Given the description of an element on the screen output the (x, y) to click on. 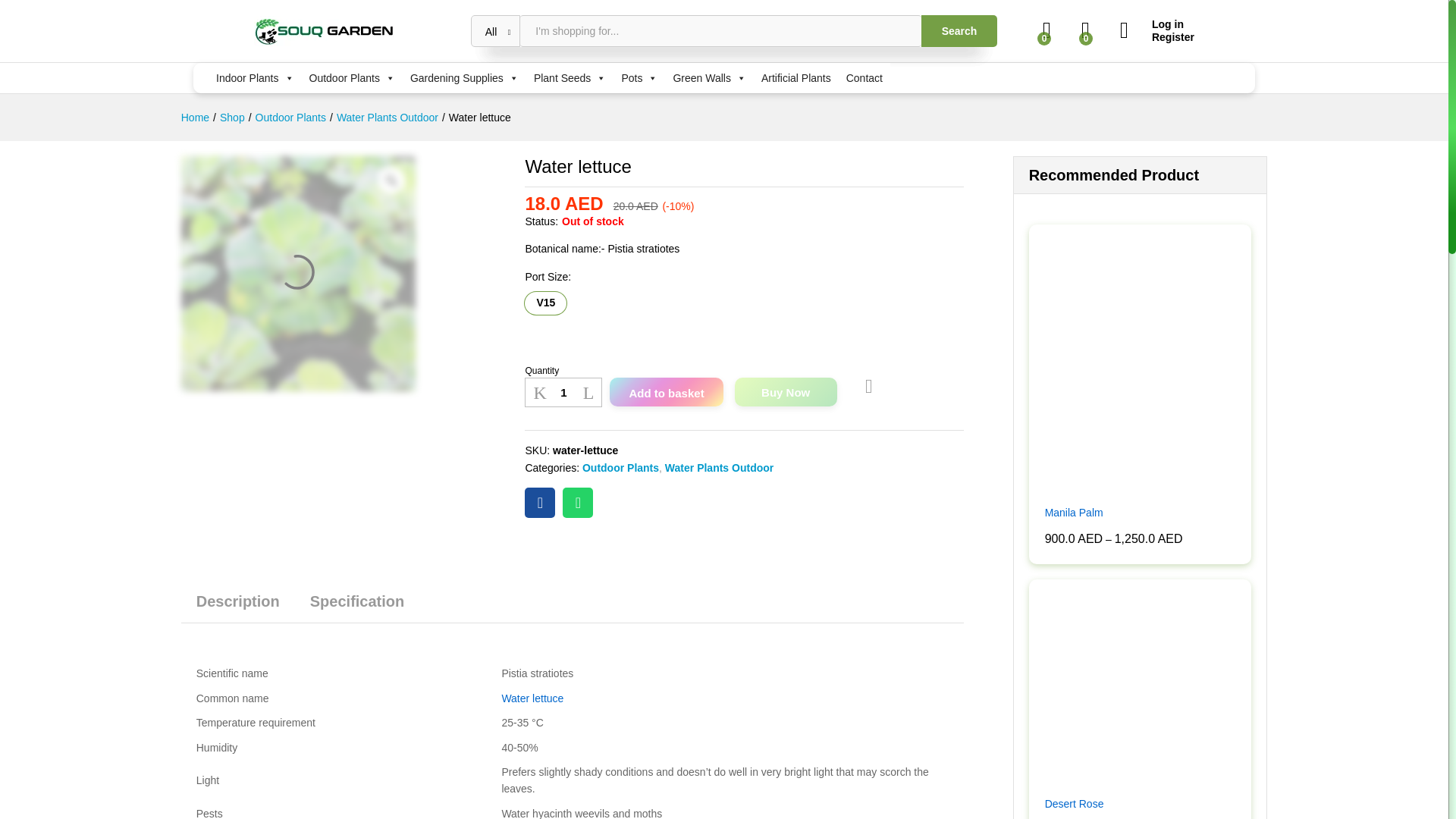
Water lettuce (298, 273)
Gardening Supplies (464, 78)
Log in (1156, 24)
Water lettuce (577, 502)
Water lettuce (539, 502)
1 (563, 392)
Register (1156, 37)
Plant Seeds (569, 78)
Outdoor Plants (352, 78)
Indoor Plants (254, 78)
